Given the description of an element on the screen output the (x, y) to click on. 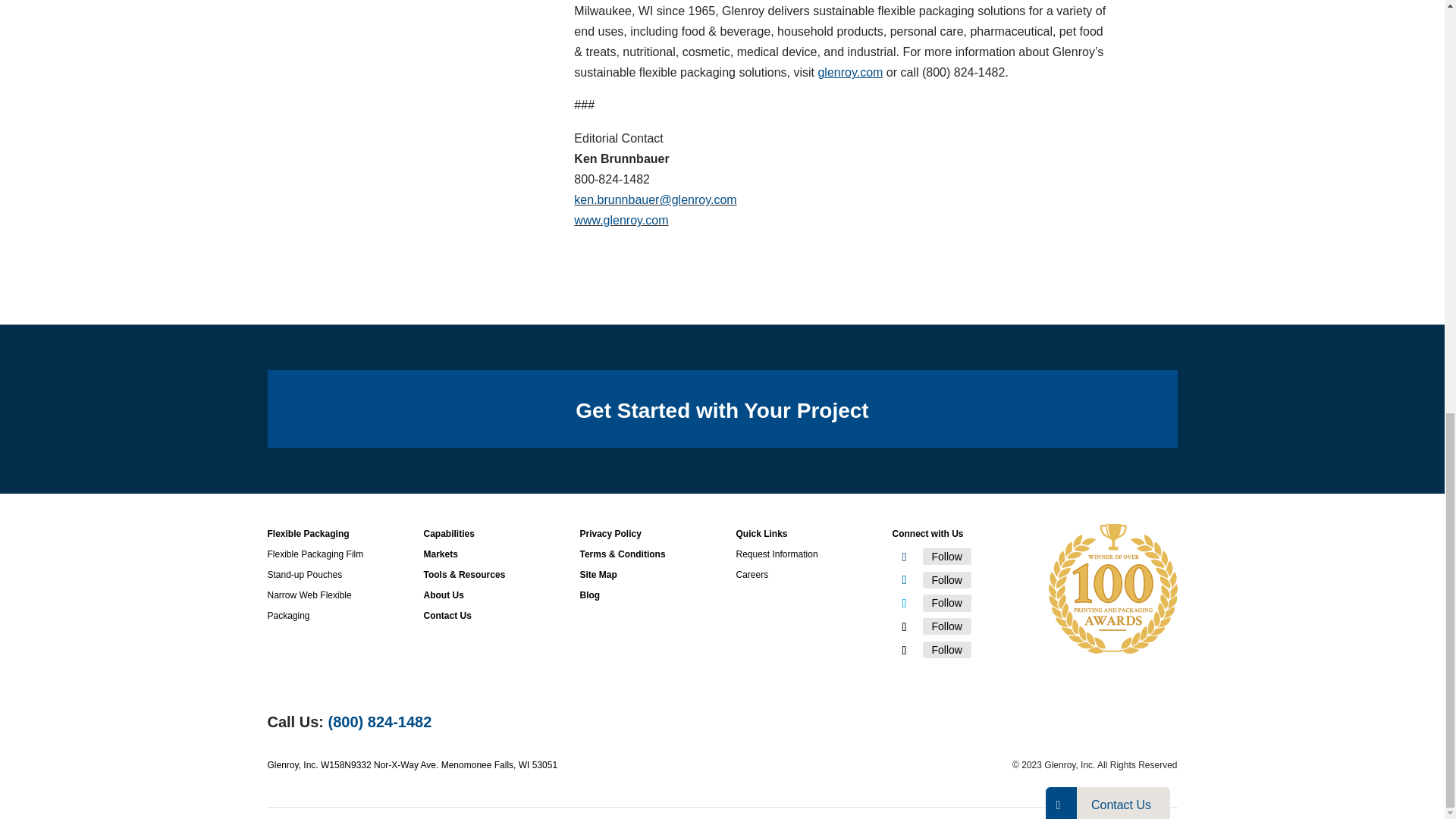
X (946, 602)
Follow on Facebook (903, 557)
Follow on LinkedIn (903, 580)
Follow on X (903, 603)
Facebook (946, 556)
LinkedIn (946, 579)
Follow on Instagram (903, 627)
